Given the description of an element on the screen output the (x, y) to click on. 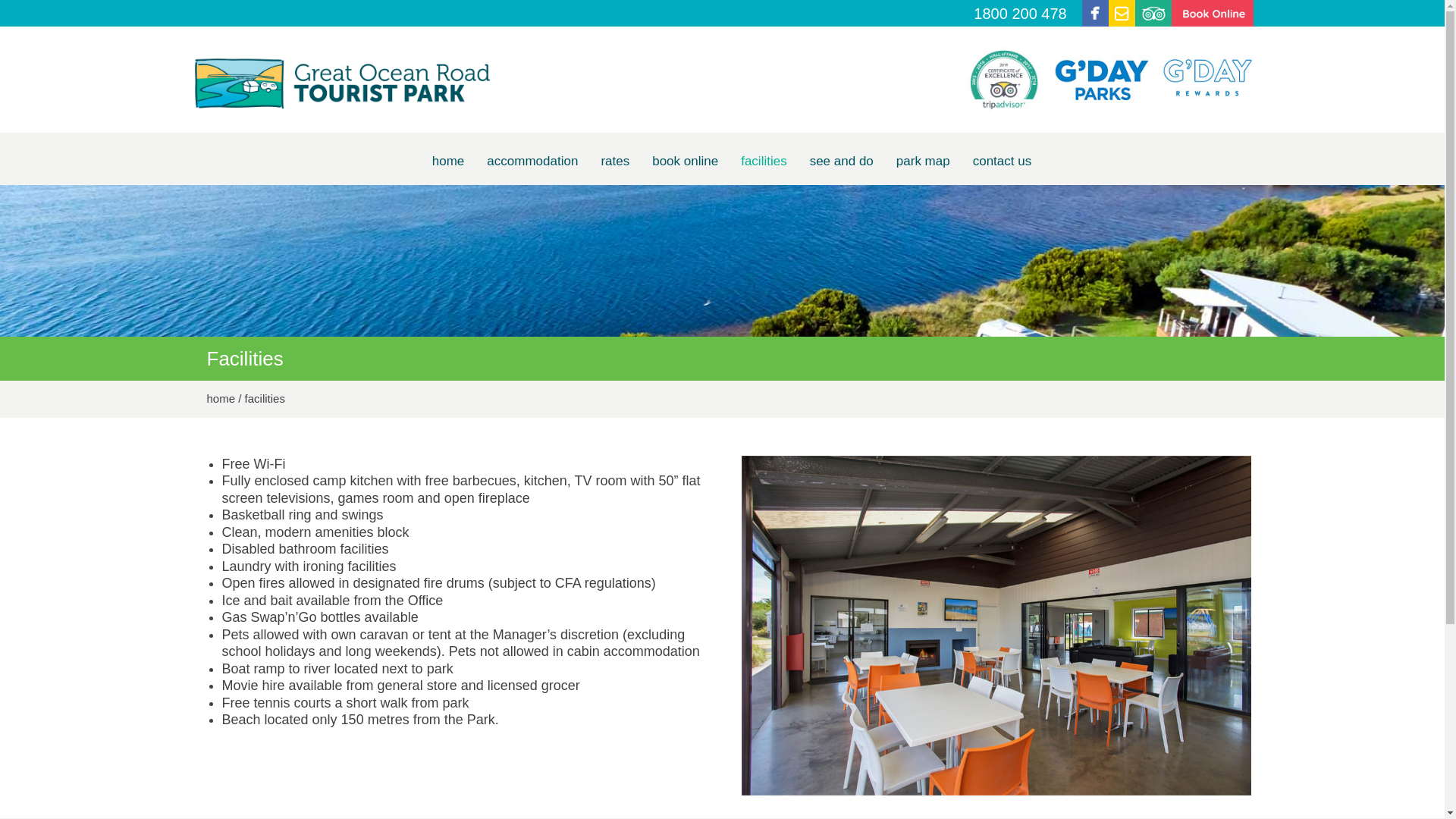
see and do Element type: text (841, 160)
park map Element type: text (923, 160)
http://greatoceanroadtouristpark.com.au Element type: text (342, 83)
rates Element type: text (614, 160)
book online Element type: text (685, 160)
home Element type: text (448, 160)
contact us Element type: text (1002, 160)
facilities Element type: text (763, 160)
home Element type: text (220, 398)
accommodation Element type: text (531, 160)
